Given the description of an element on the screen output the (x, y) to click on. 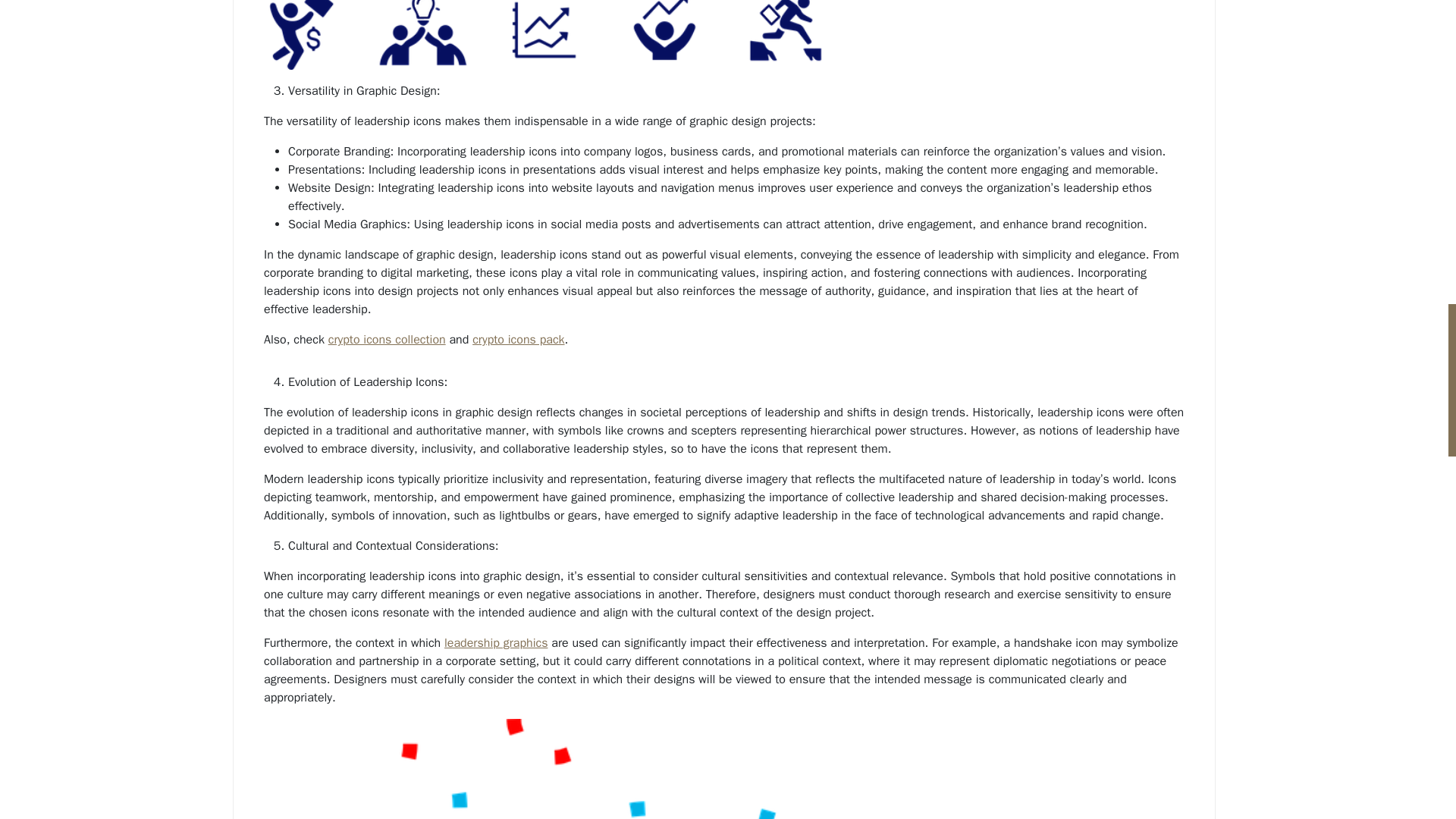
crypto icons pack (517, 339)
crypto icons collection (387, 339)
leadership graphics (495, 642)
